Given the description of an element on the screen output the (x, y) to click on. 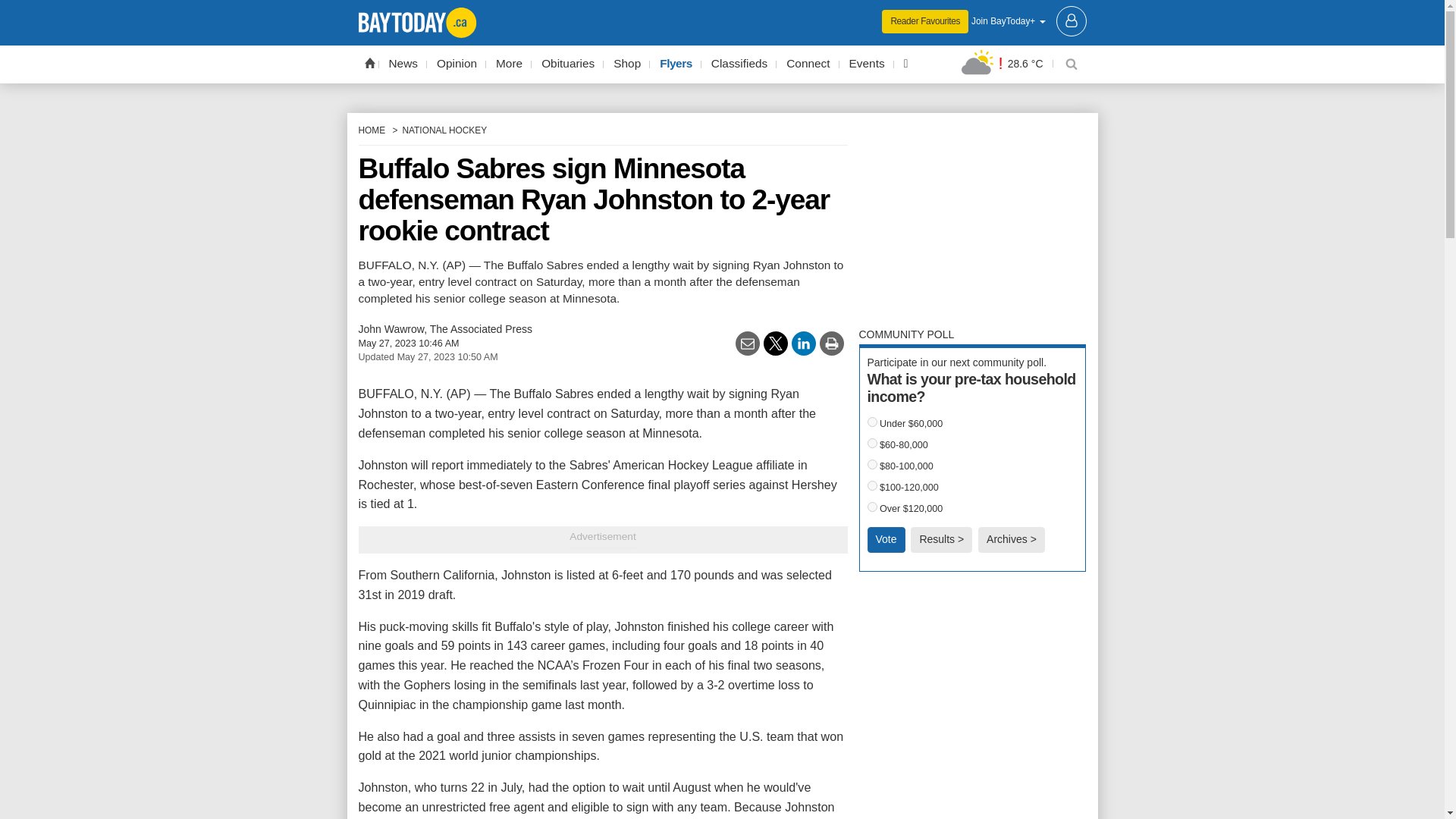
121933 (872, 464)
121931 (872, 421)
Reader Favourites (925, 21)
News (403, 64)
Home (368, 62)
121935 (872, 506)
121932 (872, 442)
121934 (872, 485)
